Given the description of an element on the screen output the (x, y) to click on. 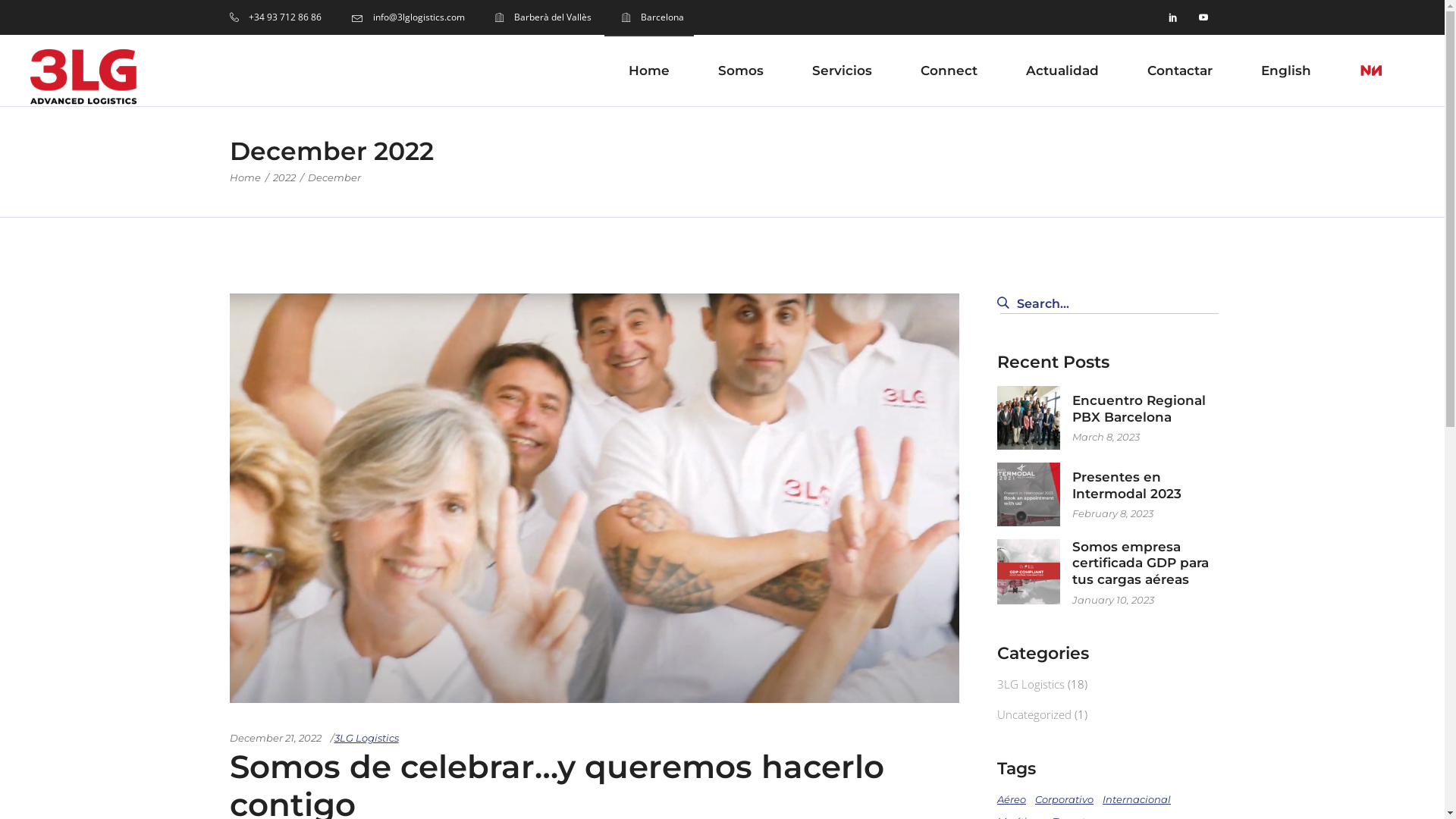
Encuentro Regional PBX Barcelona Element type: hover (1028, 416)
Search for: Element type: hover (1109, 303)
Encuentro Regional PBX Barcelona Element type: text (1138, 408)
March 8, 2023 Element type: text (1105, 436)
January 10, 2023 Element type: text (1113, 599)
+34 93 712 86 86 Element type: text (274, 17)
Barcelona Element type: text (652, 17)
Uncategorized Element type: text (1034, 713)
info@3lglogistics.com Element type: text (407, 17)
Somos Element type: text (740, 70)
Home Element type: text (648, 70)
3LG Logistics Element type: text (365, 737)
Contactar Element type: text (1179, 70)
3LG Logistics Element type: text (1030, 683)
Home Element type: text (244, 177)
Servicios Element type: text (841, 70)
December 21, 2022 Element type: text (274, 737)
English Element type: text (1285, 70)
Internacional Element type: text (1136, 799)
Presentes en Intermodal 2023 Element type: hover (1028, 494)
Presentes en Intermodal 2023 Element type: text (1126, 485)
Actualidad Element type: text (1062, 70)
2022 Element type: text (284, 177)
Corporativo Element type: text (1064, 799)
Connect Element type: text (948, 70)
February 8, 2023 Element type: text (1112, 513)
